Given the description of an element on the screen output the (x, y) to click on. 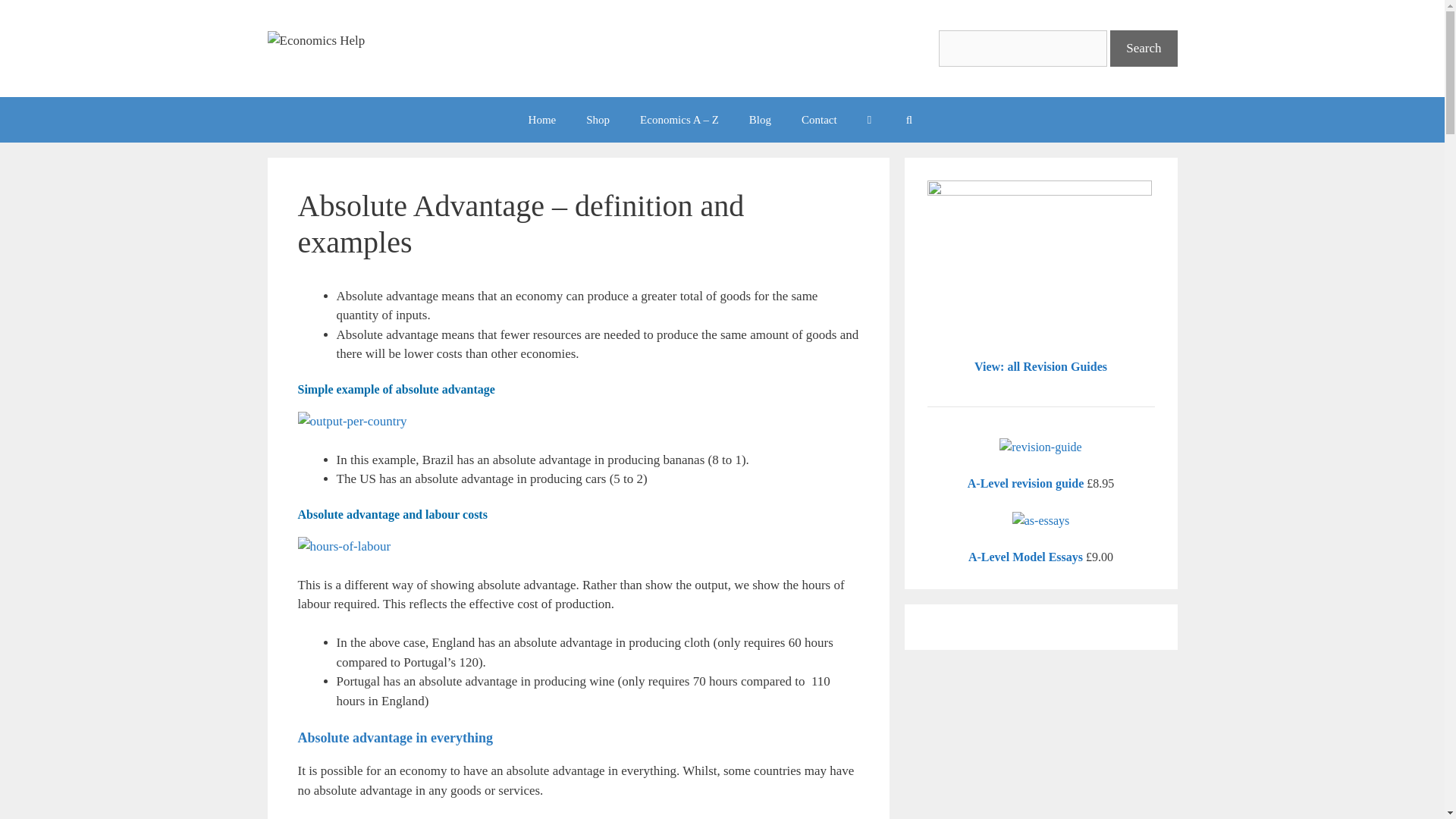
Contact (818, 119)
Blog (759, 119)
Home (542, 119)
Search (1142, 48)
Shop (597, 119)
Search (1142, 48)
